Given the description of an element on the screen output the (x, y) to click on. 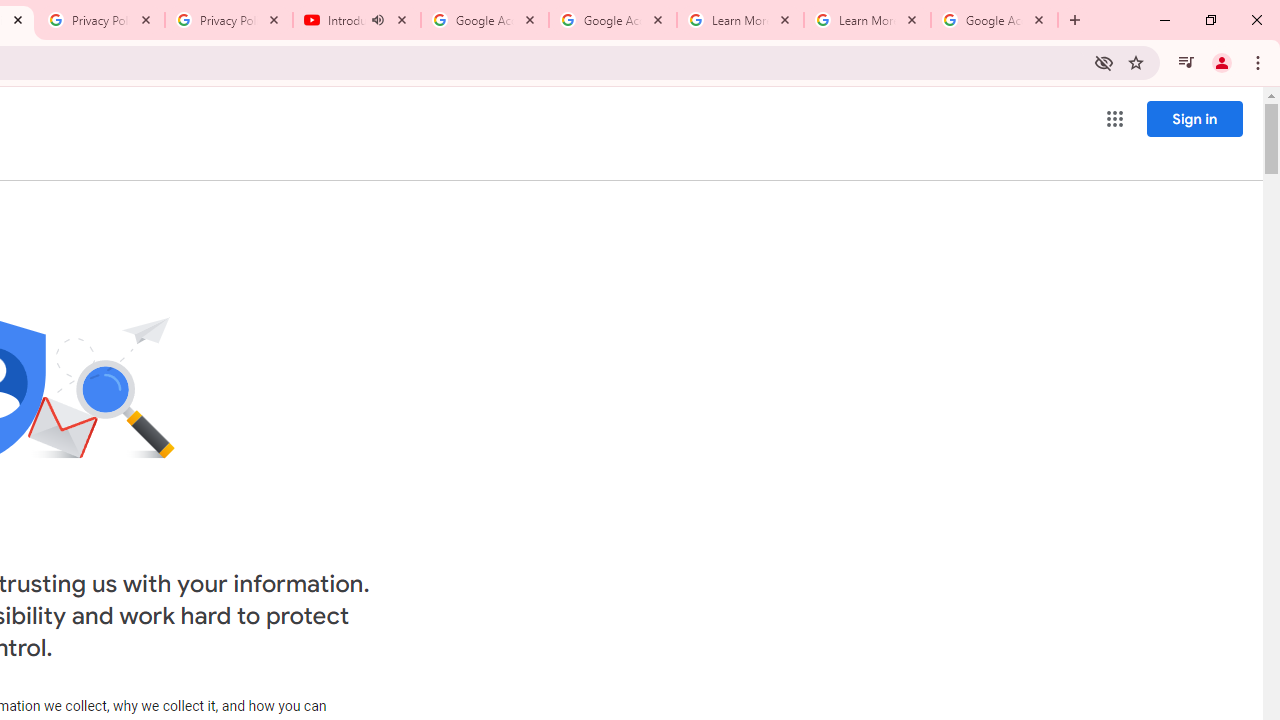
Google Account Help (485, 20)
Google Account Help (613, 20)
Google Account (994, 20)
